Given the description of an element on the screen output the (x, y) to click on. 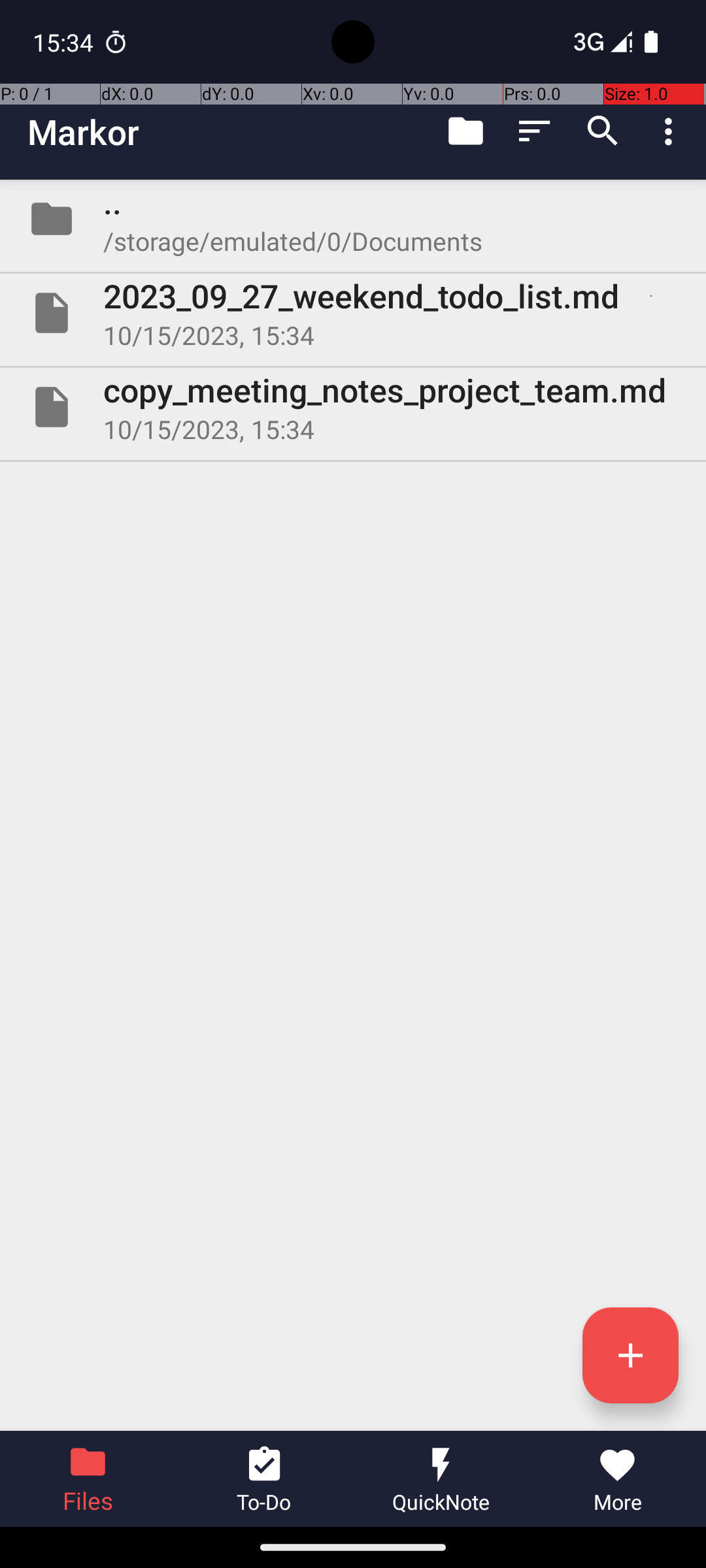
File 2023_09_27_weekend_todo_list.md  Element type: android.widget.LinearLayout (353, 312)
File copy_meeting_notes_project_team.md  Element type: android.widget.LinearLayout (353, 406)
